Given the description of an element on the screen output the (x, y) to click on. 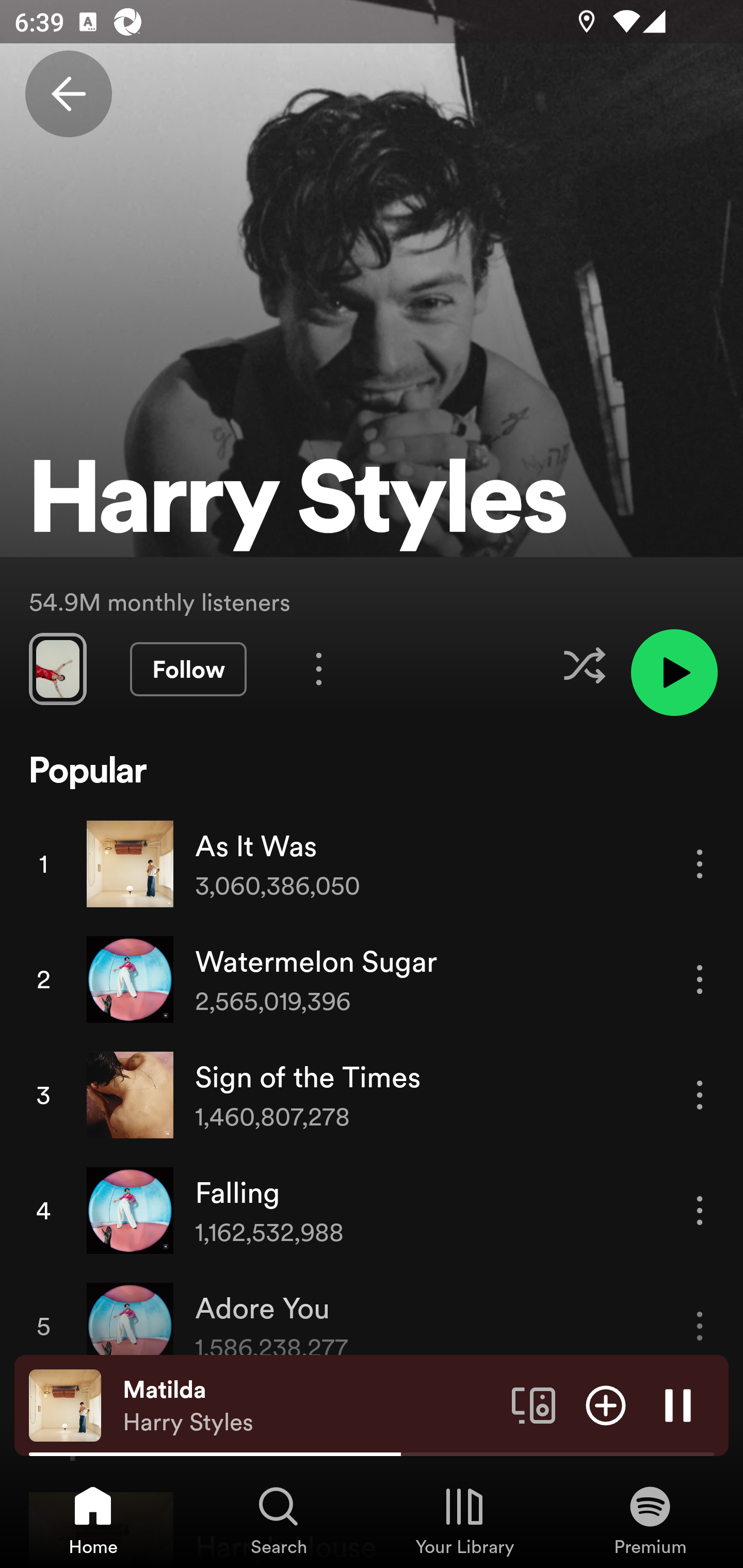
Back (68, 93)
Enable shuffle for this artist (583, 665)
More options for artist Harry Styles (318, 668)
Play artist (674, 672)
Follow (188, 669)
More options for song As It Was (699, 863)
More options for song Watermelon Sugar (699, 979)
More options for song Sign of the Times (699, 1095)
More options for song Falling (699, 1210)
More options for song Adore You (699, 1325)
Matilda Harry Styles (309, 1405)
The cover art of the currently playing track (64, 1404)
Connect to a device. Opens the devices menu (533, 1404)
Add item (605, 1404)
Pause (677, 1404)
Home, Tab 1 of 4 Home Home (92, 1519)
Search, Tab 2 of 4 Search Search (278, 1519)
Your Library, Tab 3 of 4 Your Library Your Library (464, 1519)
Premium, Tab 4 of 4 Premium Premium (650, 1519)
